Given the description of an element on the screen output the (x, y) to click on. 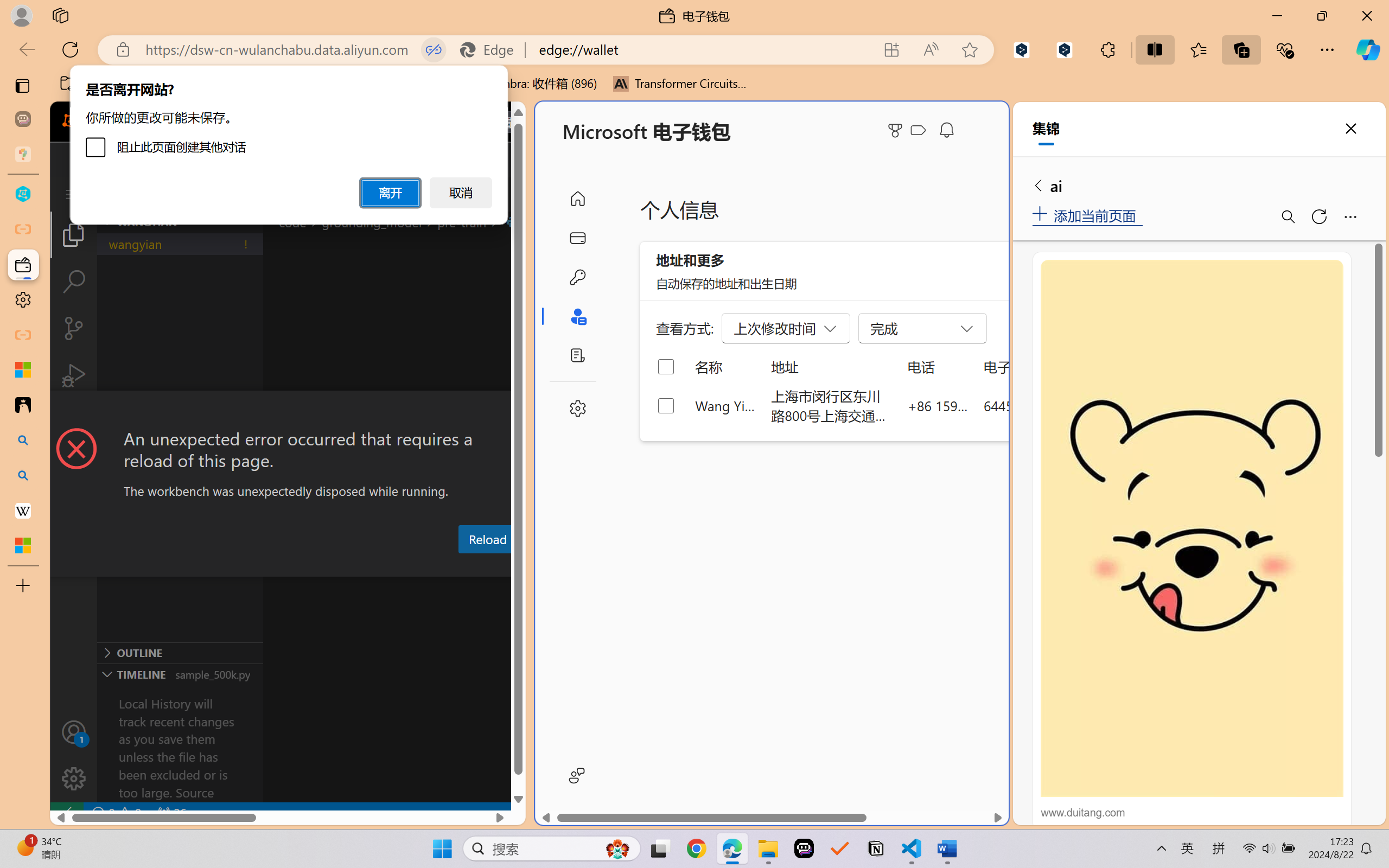
Problems (Ctrl+Shift+M) (308, 565)
